Given the description of an element on the screen output the (x, y) to click on. 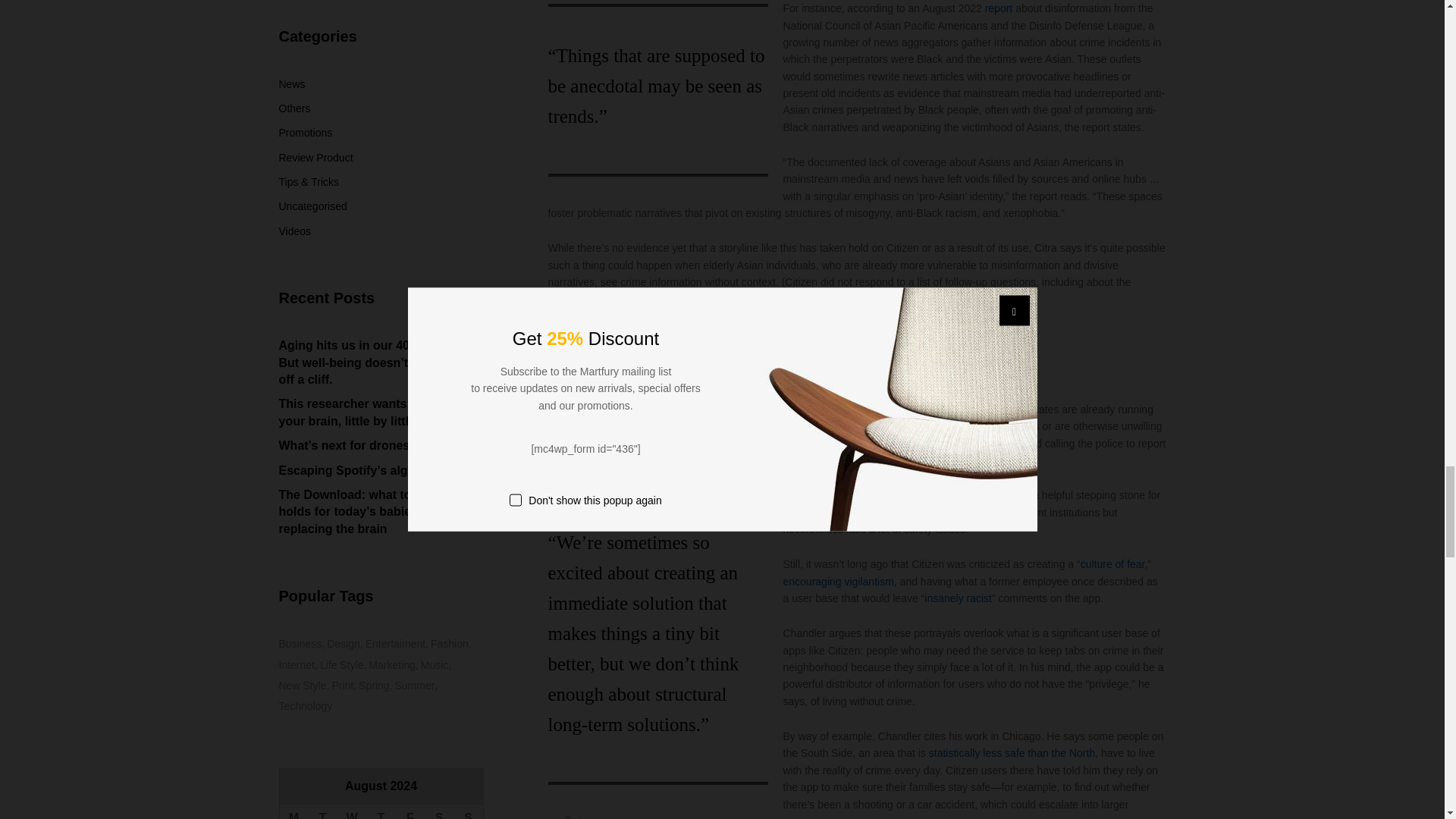
Thursday (380, 811)
Tuesday (321, 811)
Sunday (468, 811)
Friday (410, 811)
Wednesday (351, 811)
Monday (293, 811)
Saturday (438, 811)
